Given the description of an element on the screen output the (x, y) to click on. 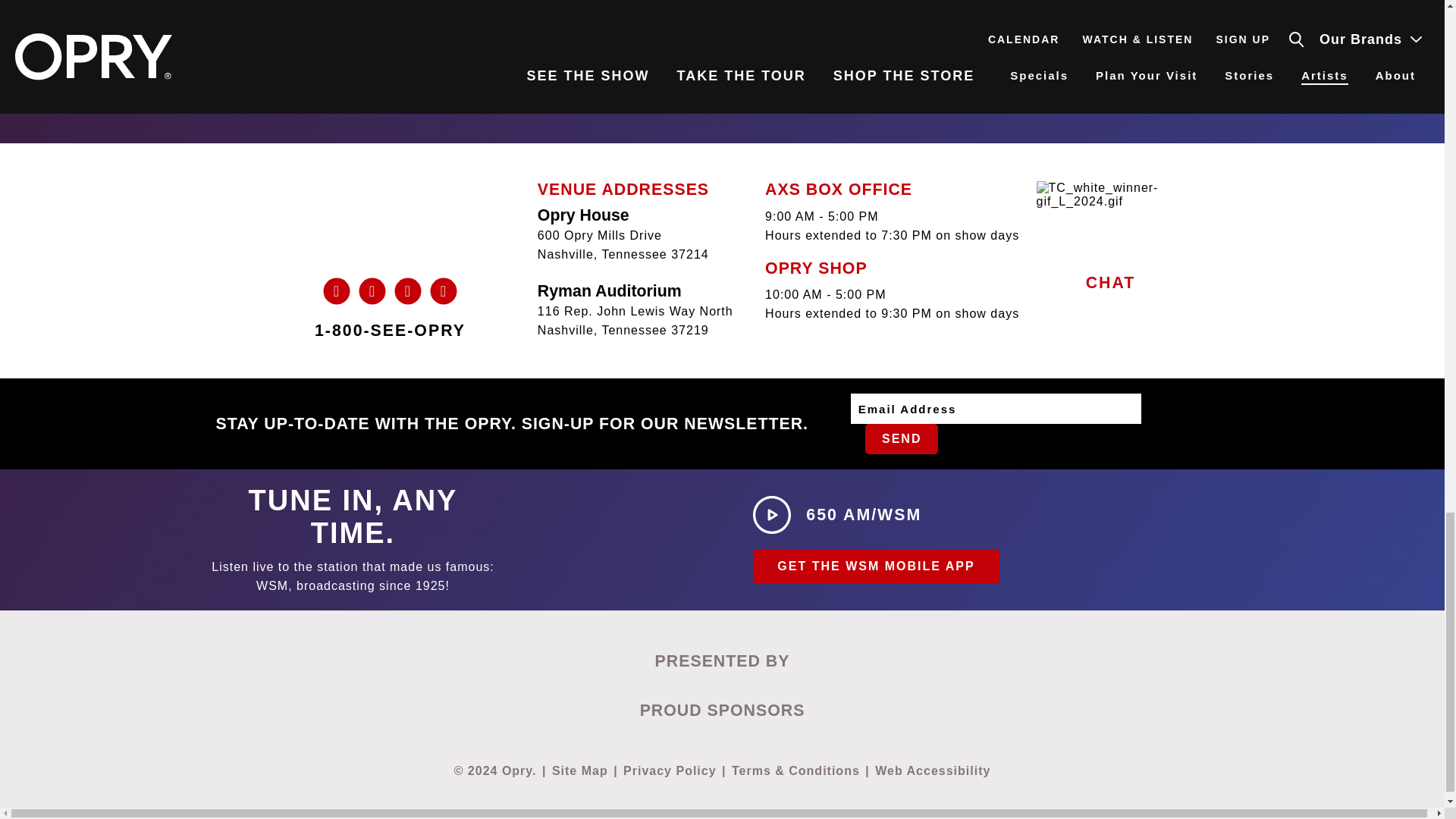
Play WSM Radio (836, 514)
Youtube (372, 290)
Instagram (407, 290)
Twitter (336, 290)
Facebook (443, 290)
